Given the description of an element on the screen output the (x, y) to click on. 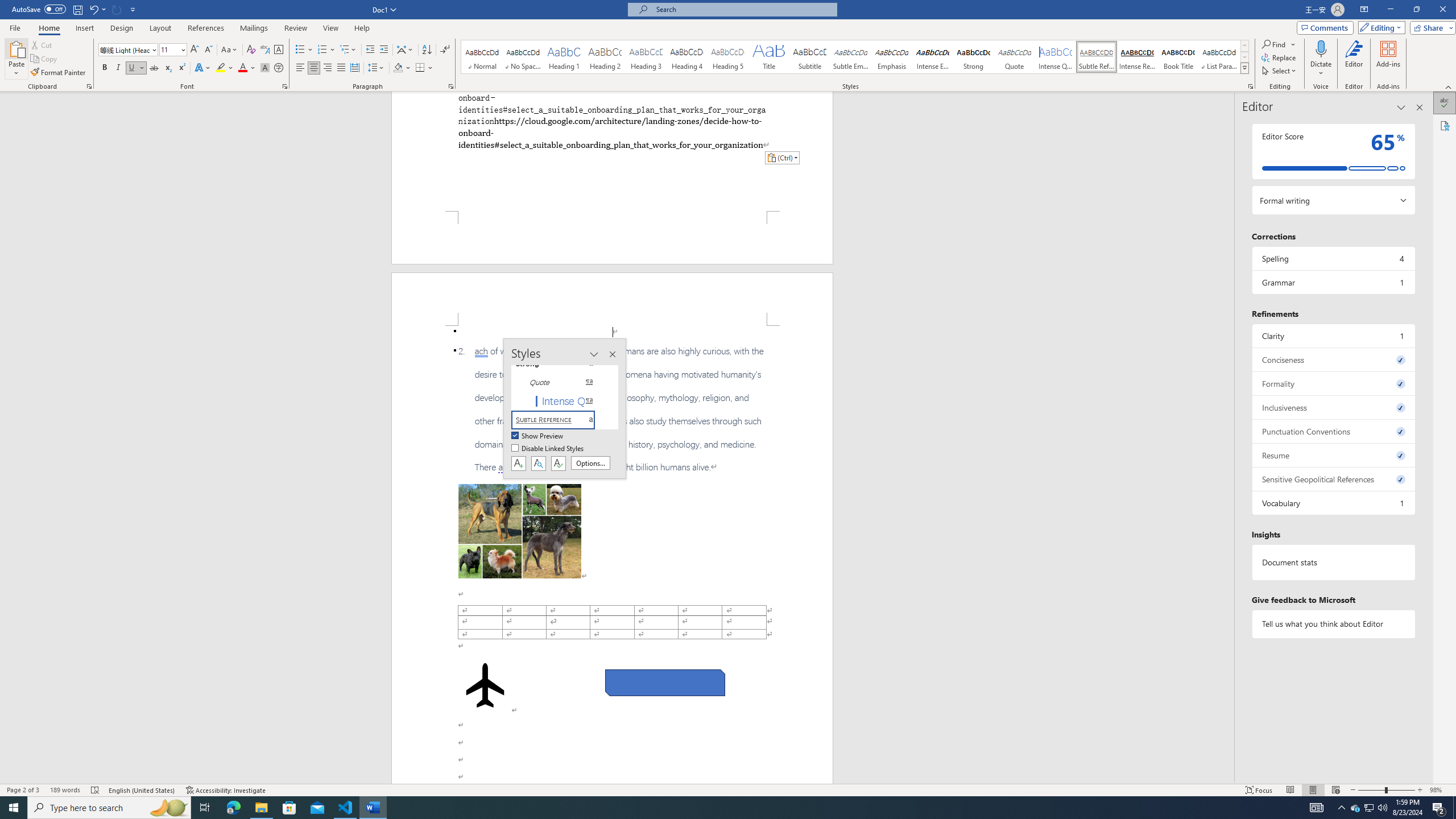
Disable Linked Styles (548, 448)
Action: Paste alternatives (781, 157)
Can't Repeat (117, 9)
